Given the description of an element on the screen output the (x, y) to click on. 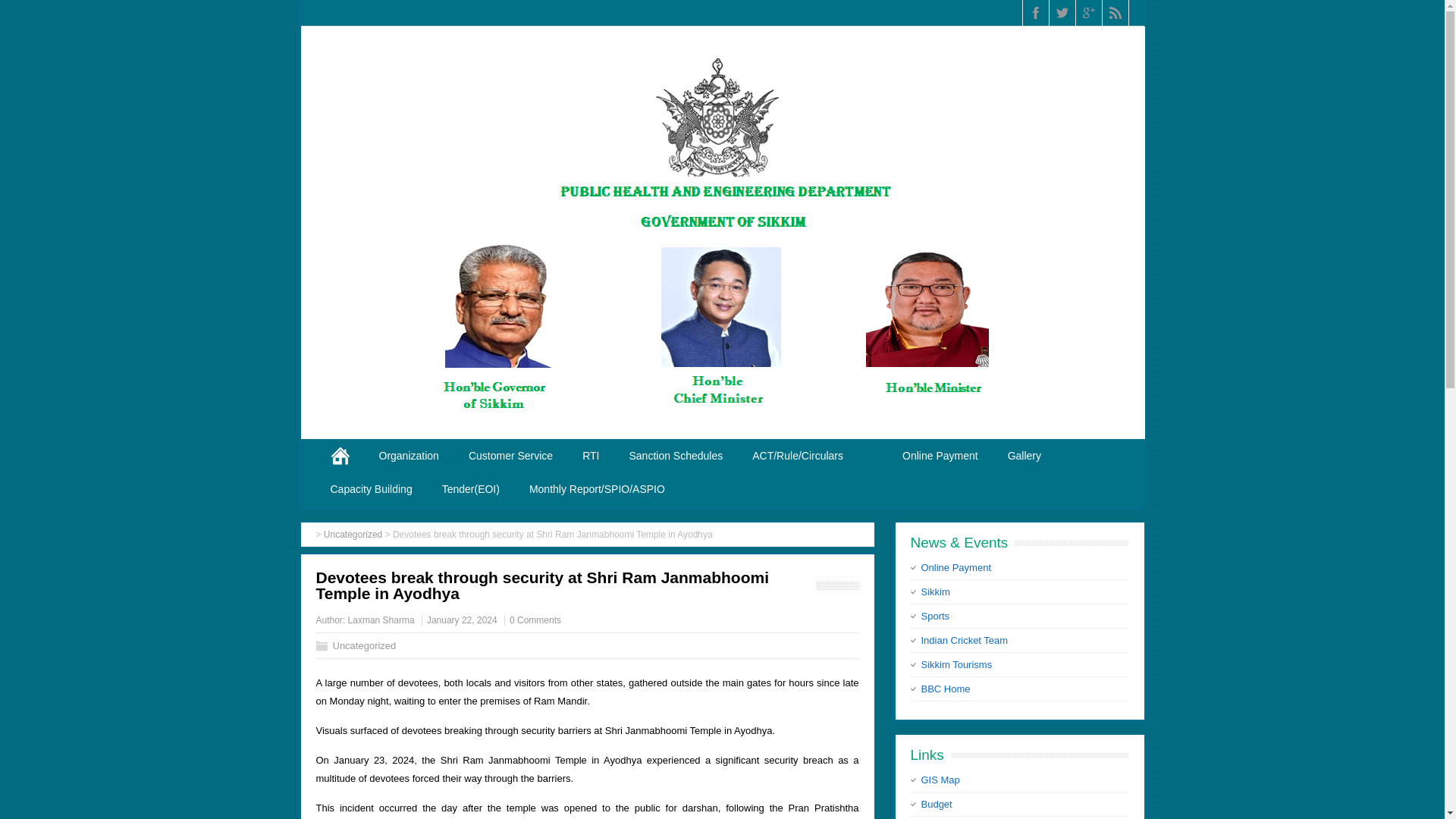
Organization (408, 455)
RTI (590, 455)
Customer Service (510, 455)
Posts by Laxman Sharma (380, 620)
Go to the Uncategorized category archives. (352, 534)
Sanction Schedules (676, 455)
